Given the description of an element on the screen output the (x, y) to click on. 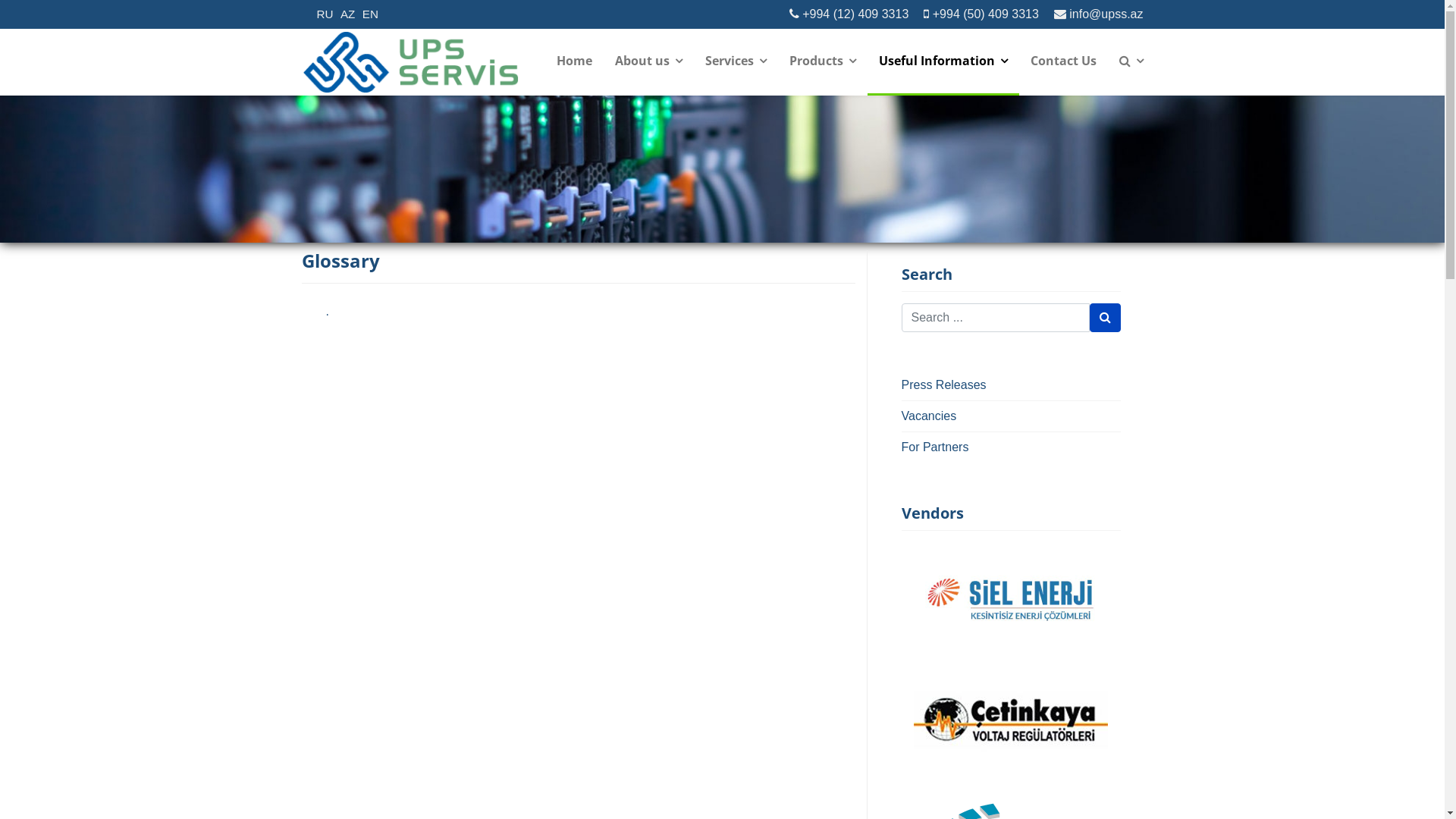
Products Element type: text (822, 61)
For Partners Element type: text (1010, 447)
RU Element type: text (324, 13)
Press Releases Element type: text (1010, 385)
About us Element type: text (648, 61)
EN Element type: text (370, 13)
AZ Element type: text (347, 13)
Services Element type: text (735, 61)
+994 (50) 409 3313 Element type: text (985, 13)
Useful Information Element type: text (943, 61)
info@upss.az Element type: text (1105, 13)
Vacancies Element type: text (1010, 416)
Home Element type: text (573, 61)
Contact Us Element type: text (1063, 61)
+994 (12) 409 3313 Element type: text (855, 13)
